Given the description of an element on the screen output the (x, y) to click on. 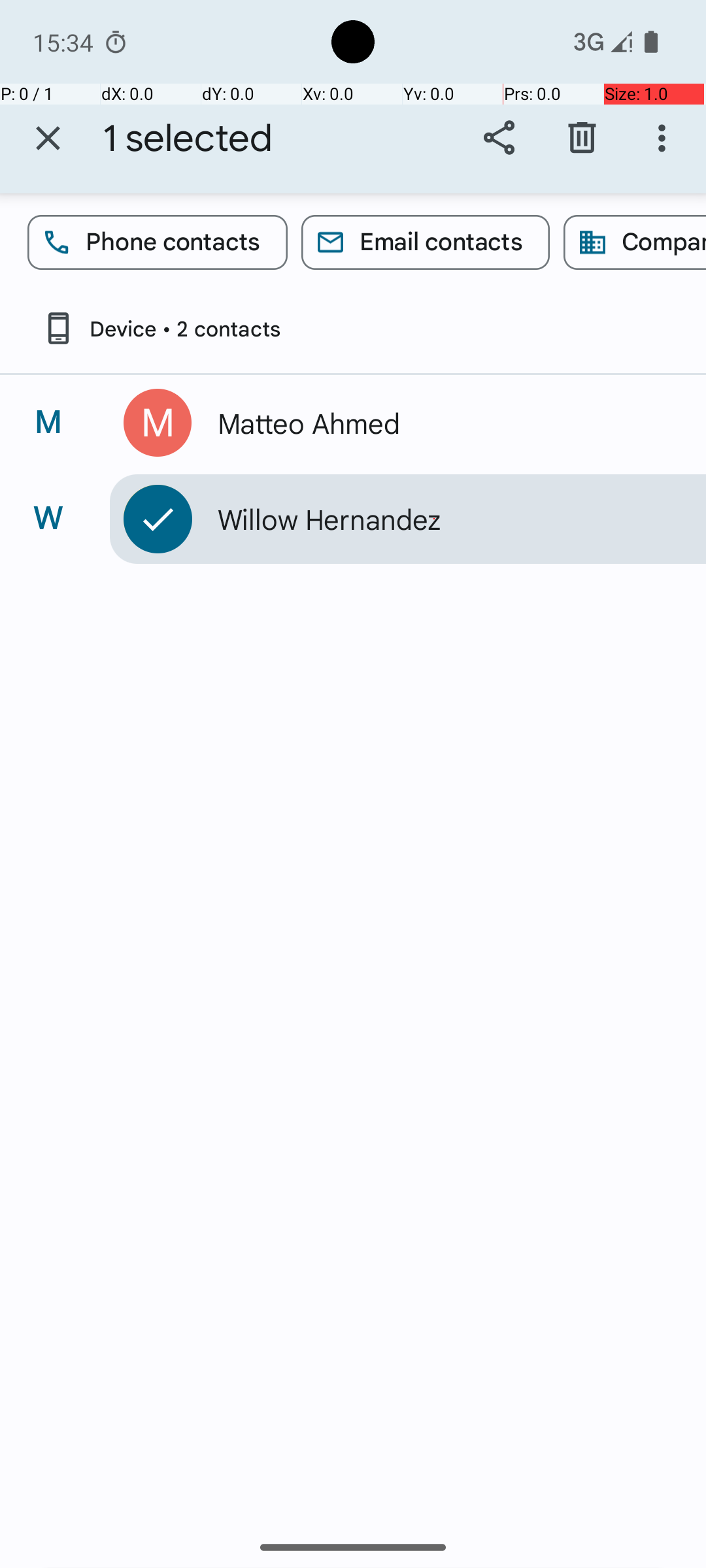
close Element type: android.widget.ImageButton (48, 138)
1 selected Element type: android.widget.TextView (187, 138)
Device • 2 contacts Element type: android.widget.TextView (161, 328)
Matteo Ahmed Element type: android.widget.TextView (434, 422)
Willow Hernandez Element type: android.widget.TextView (434, 518)
